Given the description of an element on the screen output the (x, y) to click on. 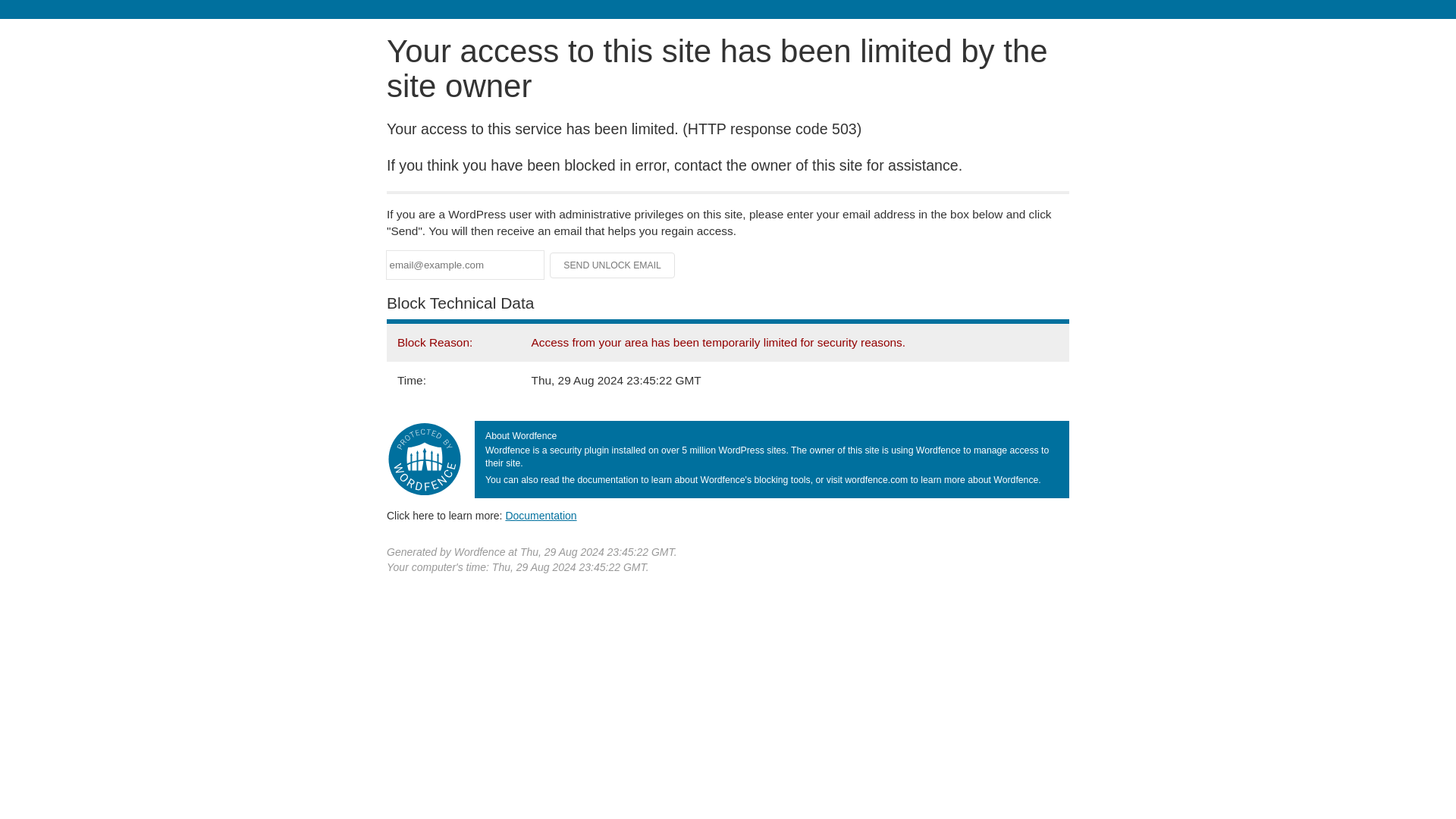
Documentation (540, 515)
Send Unlock Email (612, 265)
Send Unlock Email (612, 265)
